Given the description of an element on the screen output the (x, y) to click on. 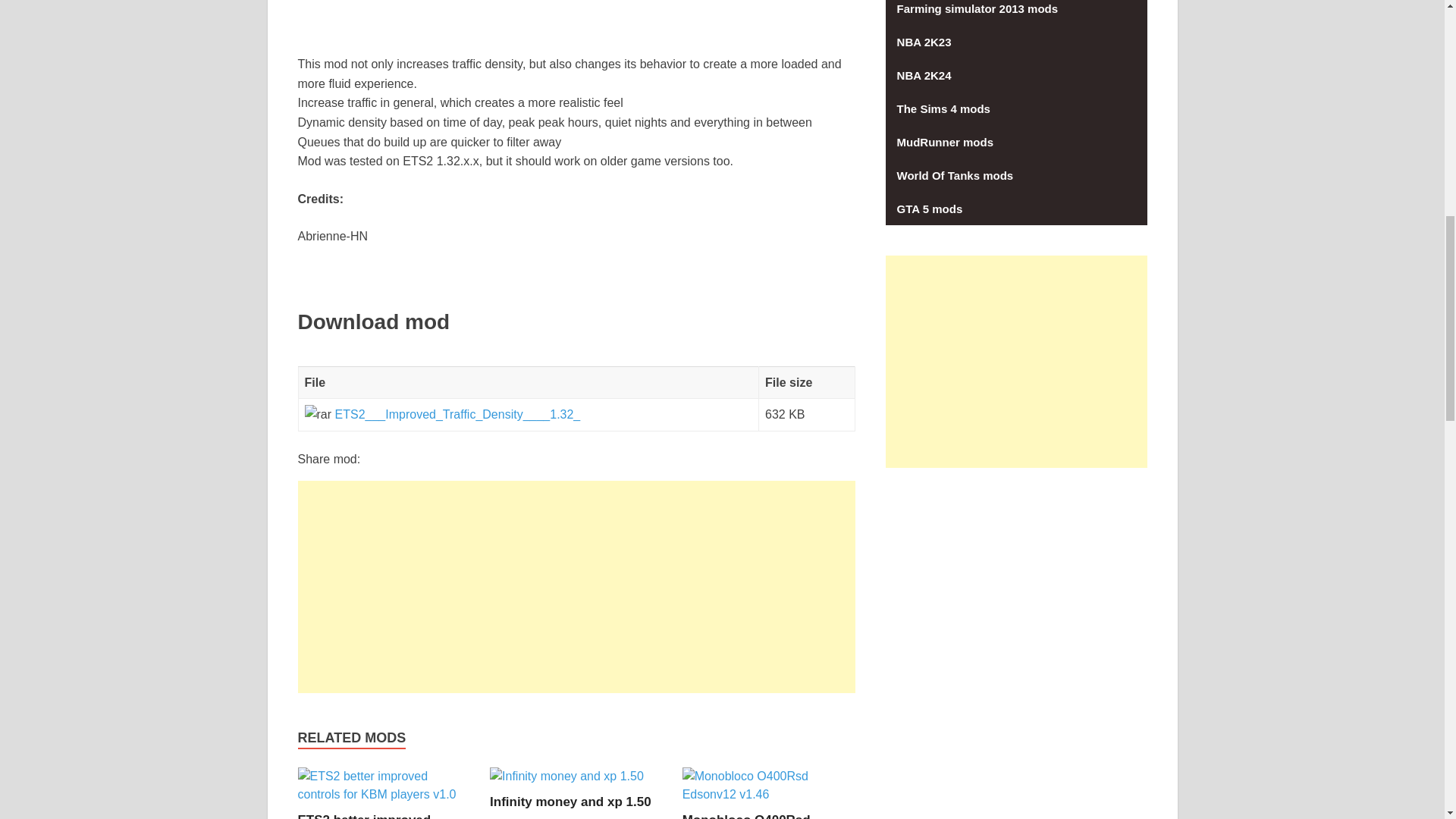
ETS2 better improved controls for KBM players v1.0 (373, 816)
ETS2 better improved controls for KBM players v1.0 (383, 793)
ETS2 better improved controls for KBM players v1.0 (373, 816)
Monobloco O400Rsd Edsonv12 v4 1.50 (746, 816)
Infinity money and xp 1.50 (566, 775)
Infinity money and xp 1.50 (569, 801)
